Given the description of an element on the screen output the (x, y) to click on. 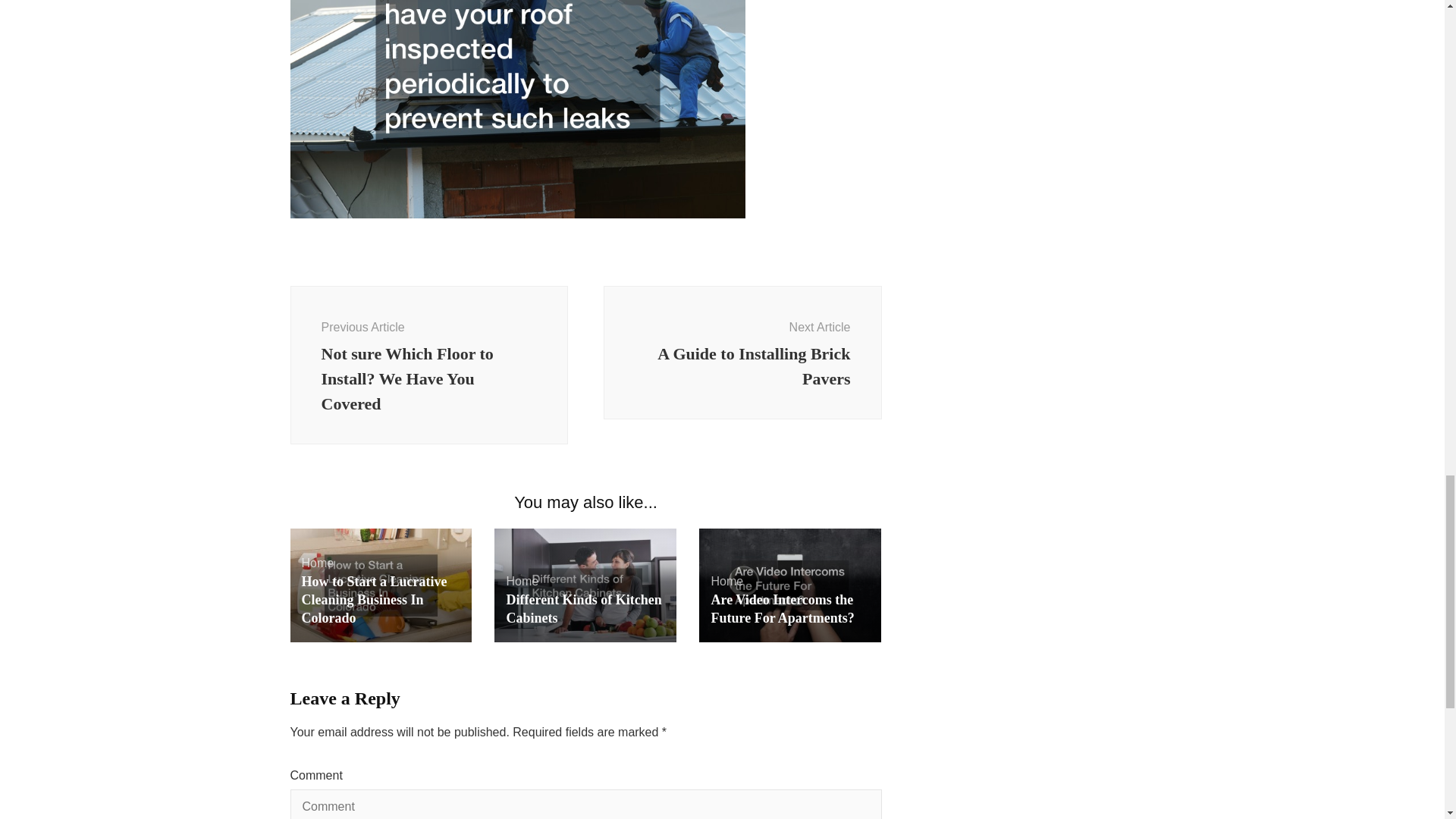
How to Start a Lucrative Cleaning Business In Colorado (373, 599)
Different Kinds of Kitchen Cabinets (583, 608)
Are Video Intercoms the Future For Apartments? (781, 608)
Home (743, 352)
Home (317, 562)
Home (521, 581)
